Given the description of an element on the screen output the (x, y) to click on. 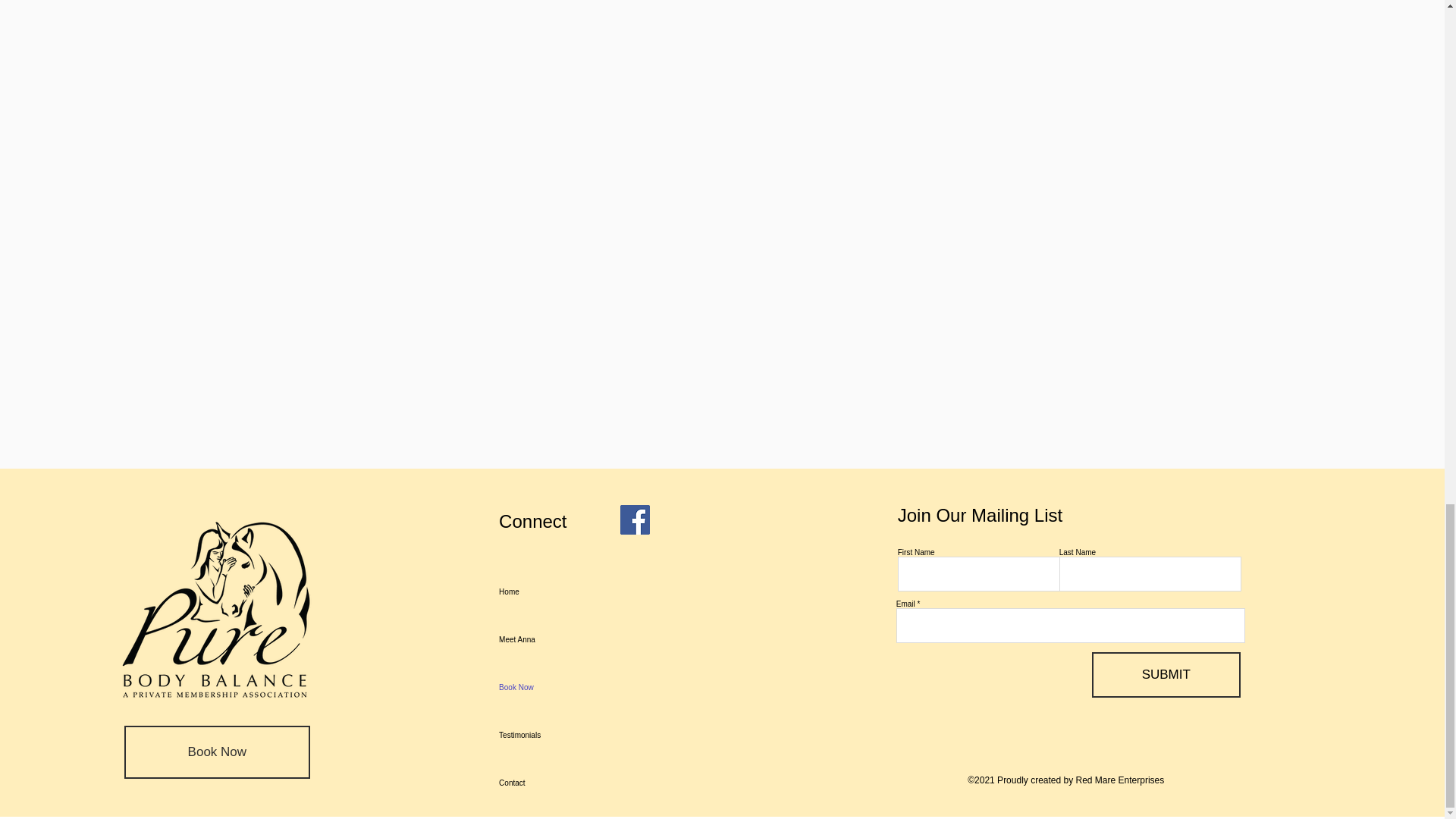
Book Now (566, 687)
Meet Anna (566, 639)
Contact (566, 782)
Meet Anna (170, 627)
Contact (170, 771)
Home (170, 580)
Testimonials (566, 735)
Book Now (216, 751)
SUBMIT (1166, 674)
Book Now (170, 675)
